Given the description of an element on the screen output the (x, y) to click on. 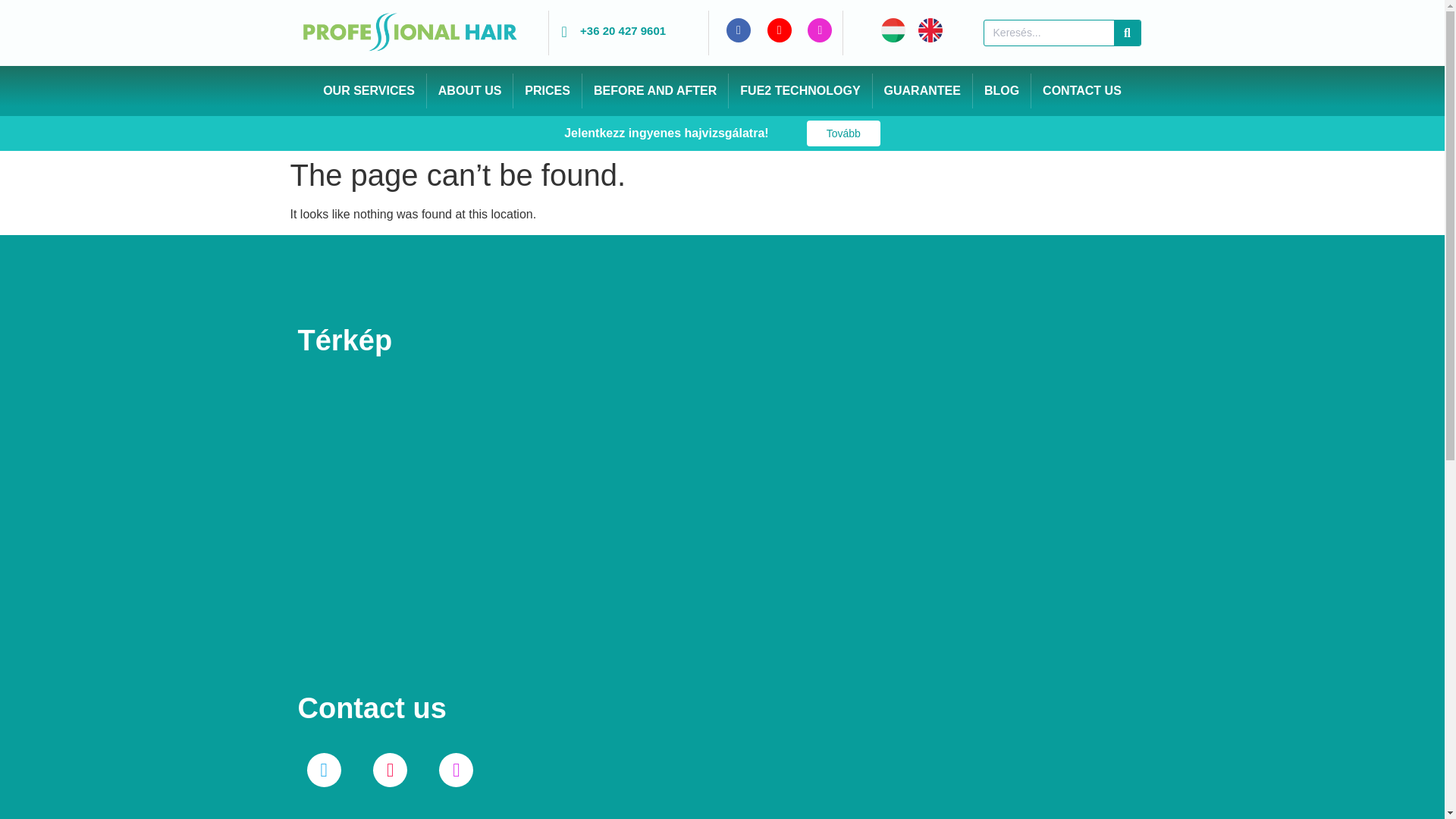
GUARANTEE (922, 90)
BLOG (1001, 90)
CONTACT US (1081, 90)
OUR SERVICES (368, 90)
PRICES (546, 90)
BEFORE AND AFTER (655, 90)
FUE2 TECHNOLOGY (799, 90)
ABOUT US (469, 90)
